Given the description of an element on the screen output the (x, y) to click on. 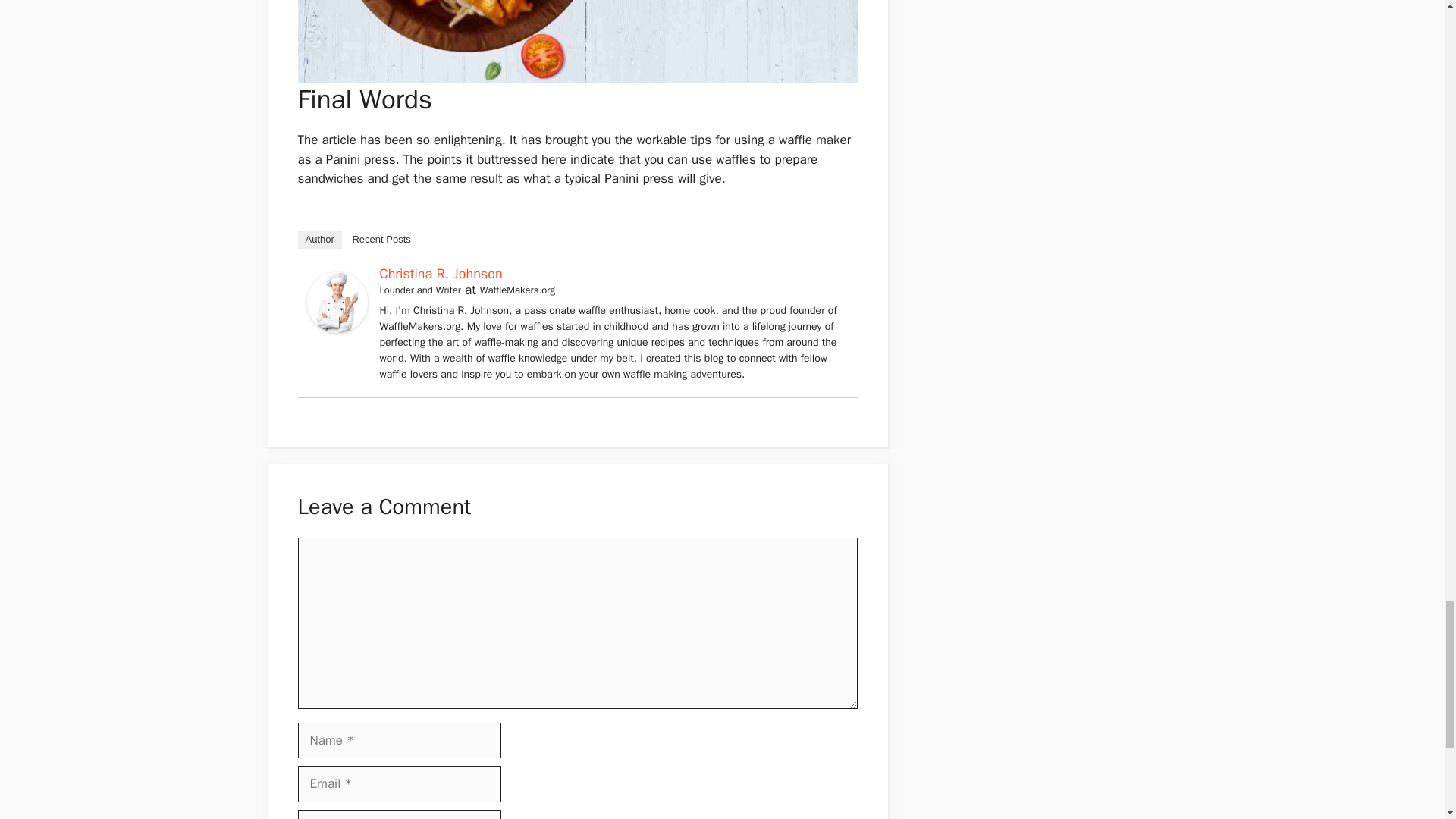
Author (318, 239)
Christina R. Johnson (440, 273)
Recent Posts (380, 239)
Christina R. Johnson (335, 328)
